Given the description of an element on the screen output the (x, y) to click on. 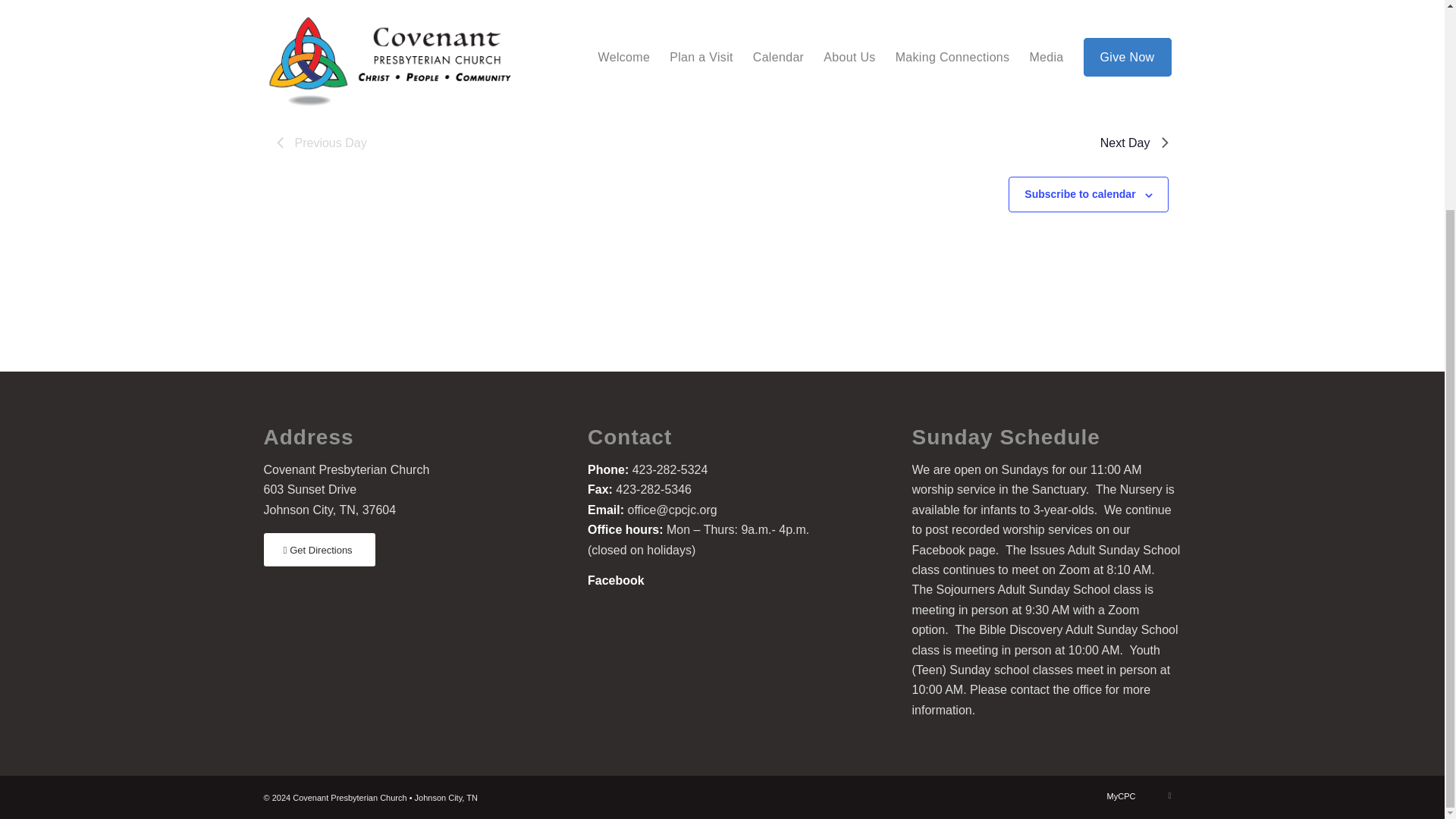
Previous day (279, 4)
Today (339, 6)
Previous Day (321, 143)
Facebook (1169, 794)
June 30, 2022 (450, 8)
Click to select today's date (339, 6)
Next Day (1134, 143)
Next day (299, 4)
Previous Day (321, 143)
next upcoming events (858, 62)
Subscribe to calendar (1080, 193)
Click to toggle datepicker (450, 8)
MyCPC (1120, 795)
Get Directions (319, 550)
Facebook (616, 580)
